Given the description of an element on the screen output the (x, y) to click on. 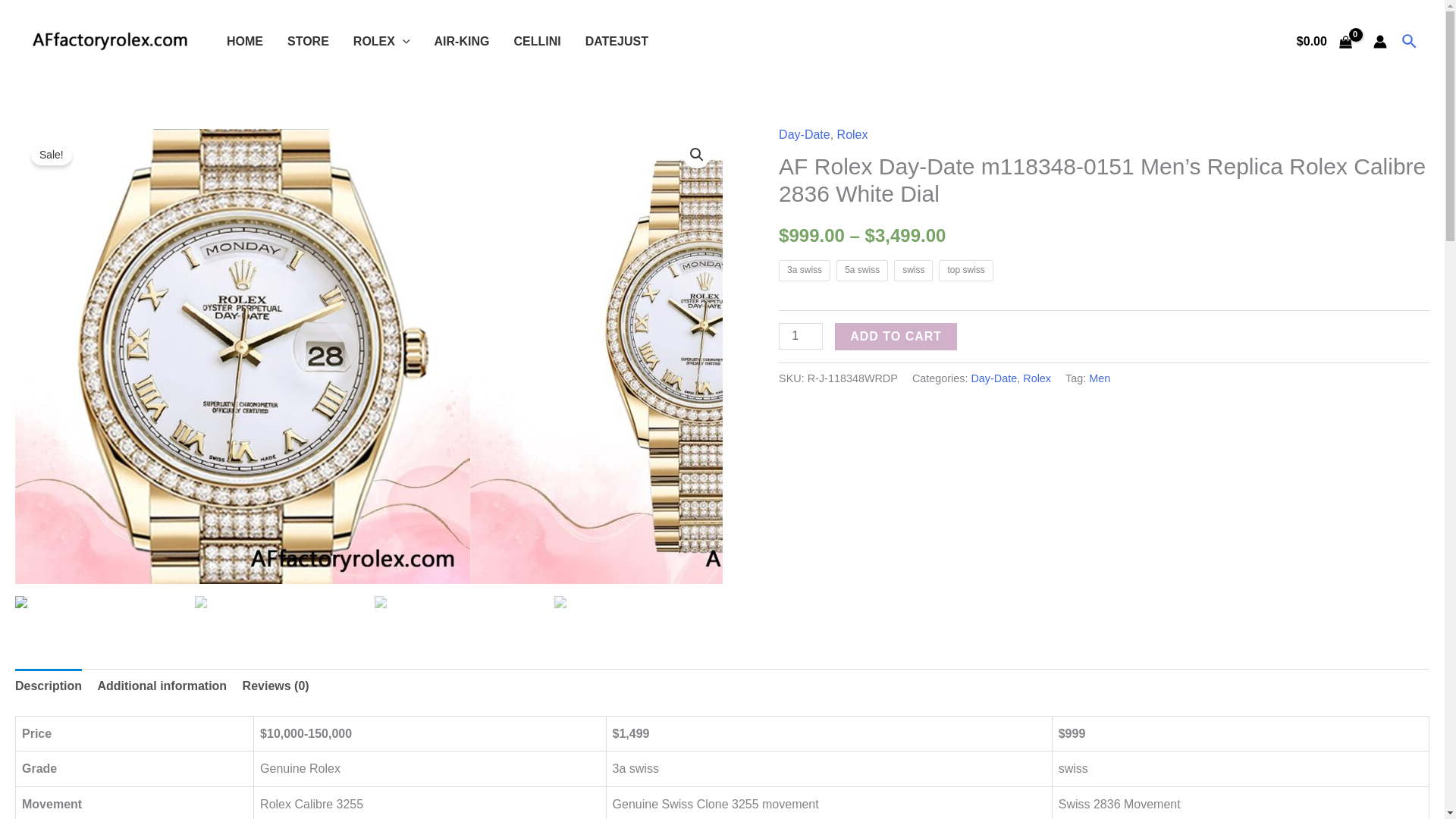
DATEJUST (617, 41)
ROLEX (381, 41)
STORE (307, 41)
AIR-KING (462, 41)
HOME (244, 41)
1 (800, 335)
Rolex (852, 133)
Day-Date (803, 133)
CELLINI (536, 41)
